Given the description of an element on the screen output the (x, y) to click on. 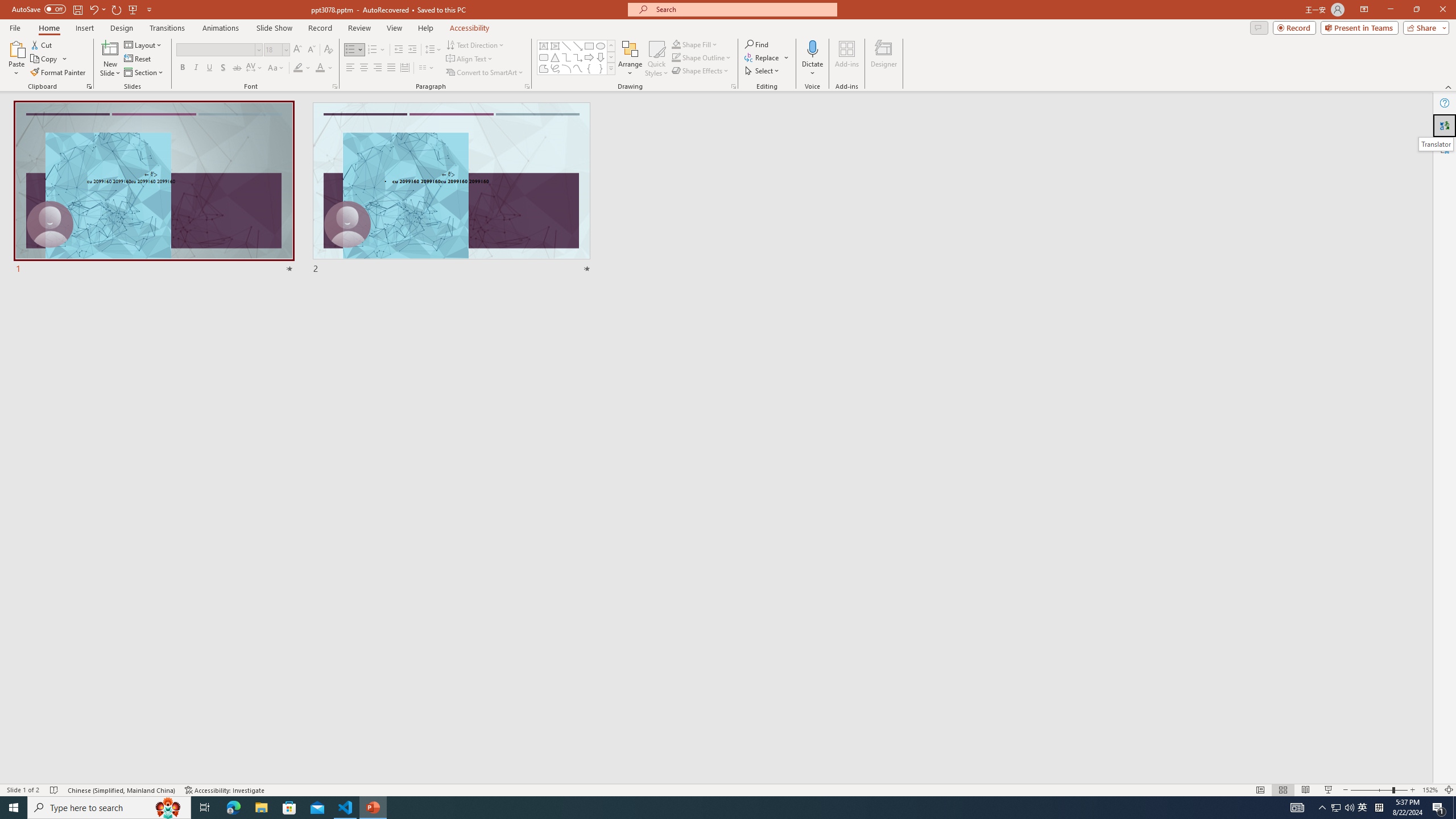
Copy (45, 58)
Row Down (611, 56)
Arrow: Right (589, 57)
AutoSave (38, 9)
Minimize (1390, 9)
Redo (117, 9)
Decrease Font Size (310, 49)
Home (48, 28)
Quick Access Toolbar (82, 9)
Format Object... (733, 85)
Help (1444, 102)
Change Case (276, 67)
Customize Quick Access Toolbar (149, 9)
Clear Formatting (327, 49)
Align Right (377, 67)
